Given the description of an element on the screen output the (x, y) to click on. 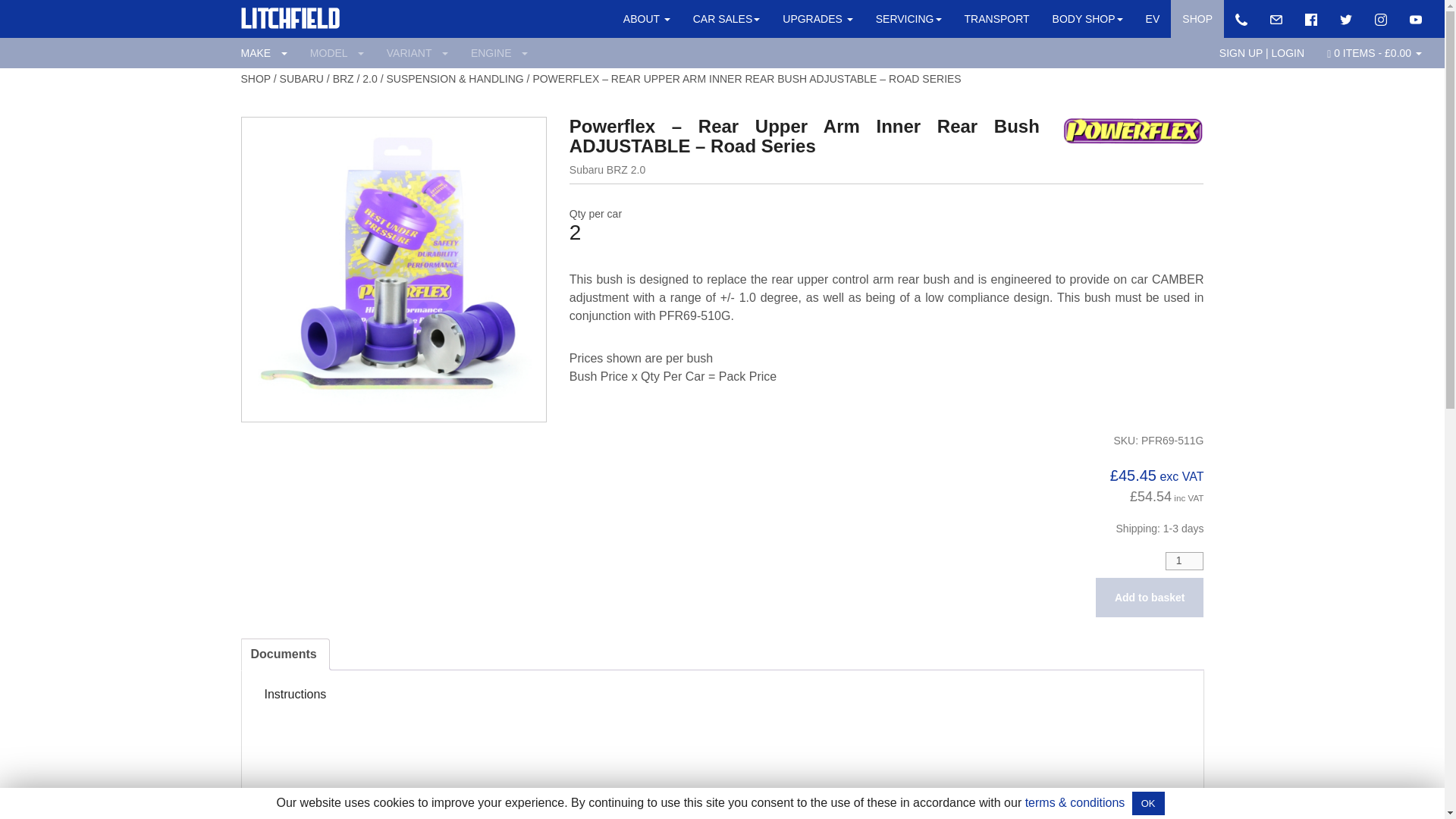
CAR SALES (726, 18)
1 (1185, 561)
View your shopping cart (1373, 52)
Litchfield Motors (290, 11)
ABOUT (646, 18)
UPGRADES (817, 18)
